Given the description of an element on the screen output the (x, y) to click on. 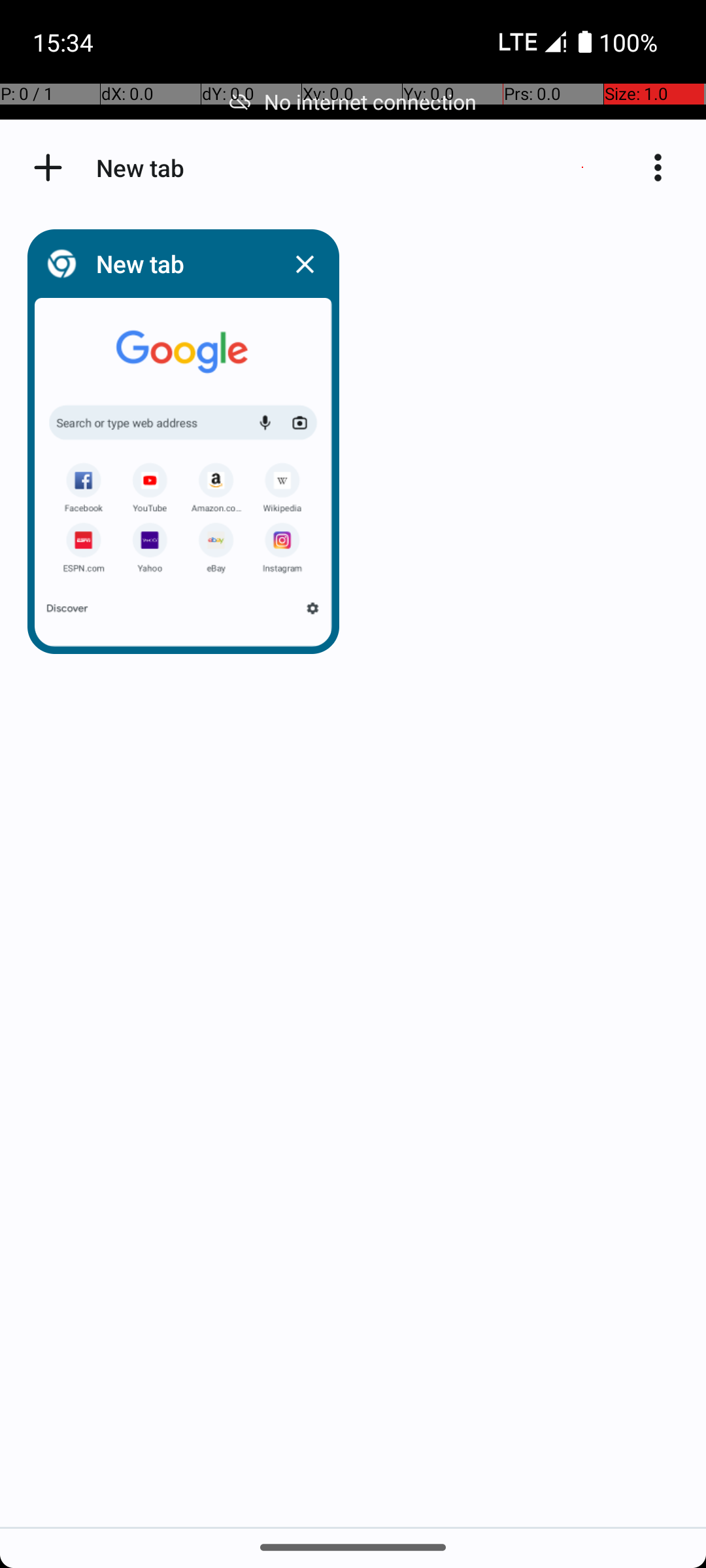
New tab Element type: android.widget.TextView (179, 263)
Close New tab tab Element type: android.widget.ImageView (304, 263)
